Given the description of an element on the screen output the (x, y) to click on. 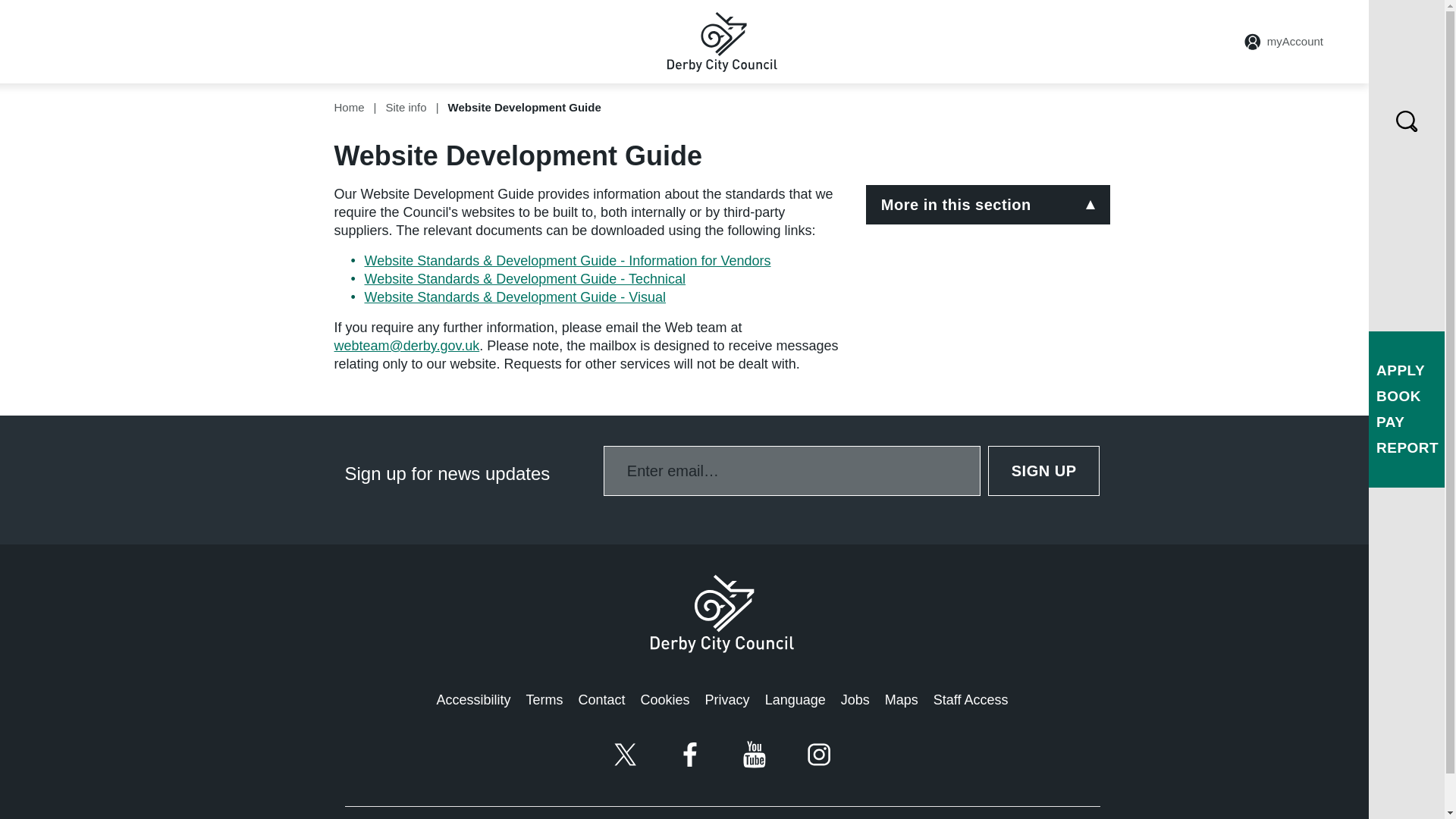
Derby City Council logo (721, 42)
Derby City Council logo (721, 40)
REPORT (1406, 447)
PAY (1390, 421)
BOOK (1398, 396)
APPLY (1400, 370)
Sign up (1044, 470)
Derby City Council logo (721, 613)
myAccount (1283, 41)
Site info (405, 106)
